Given the description of an element on the screen output the (x, y) to click on. 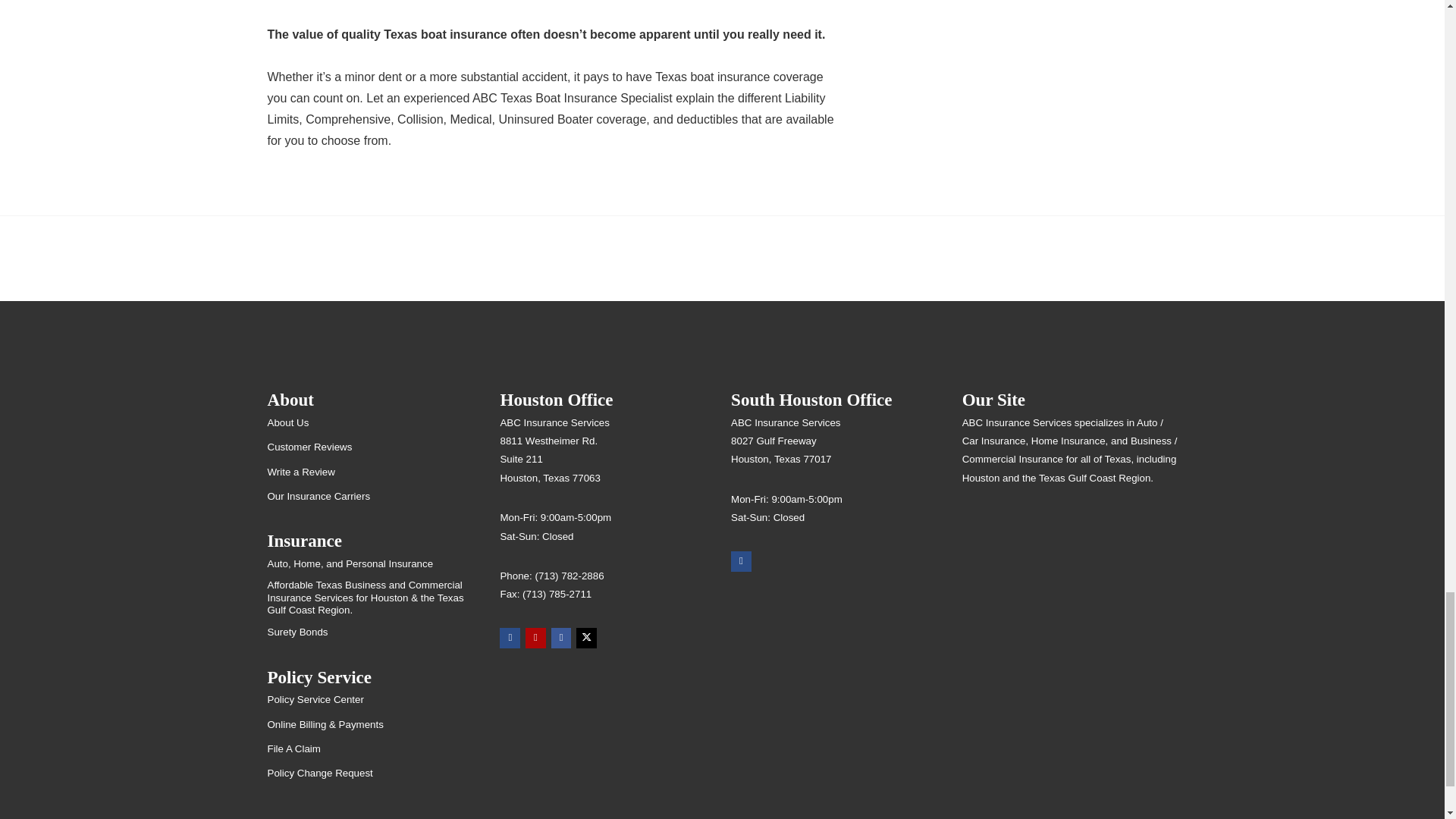
Facebook (561, 638)
X (586, 638)
Google Maps (740, 561)
Google Maps (509, 638)
Yelp (535, 638)
